Given the description of an element on the screen output the (x, y) to click on. 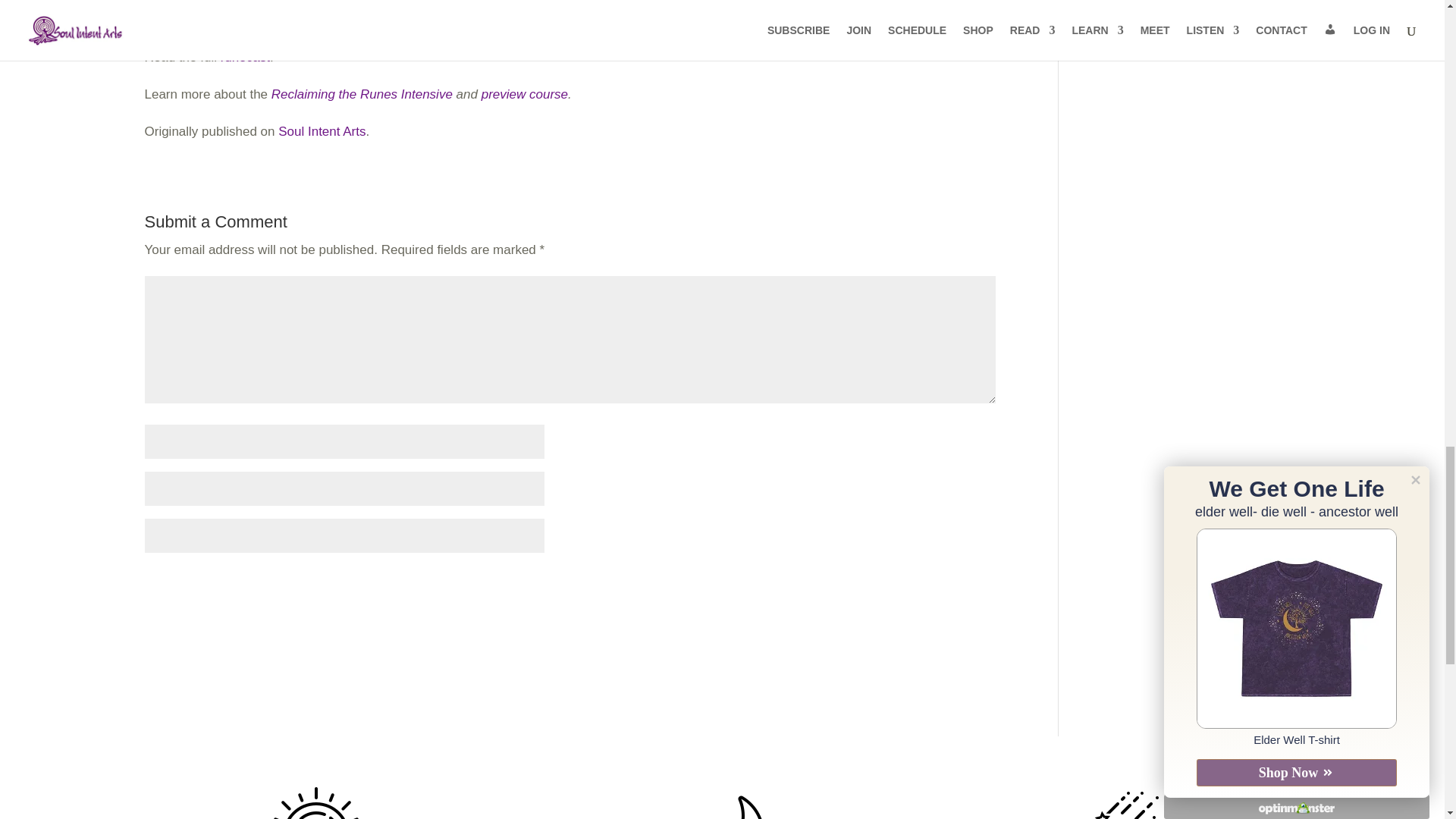
Submit Comment (919, 584)
